Given the description of an element on the screen output the (x, y) to click on. 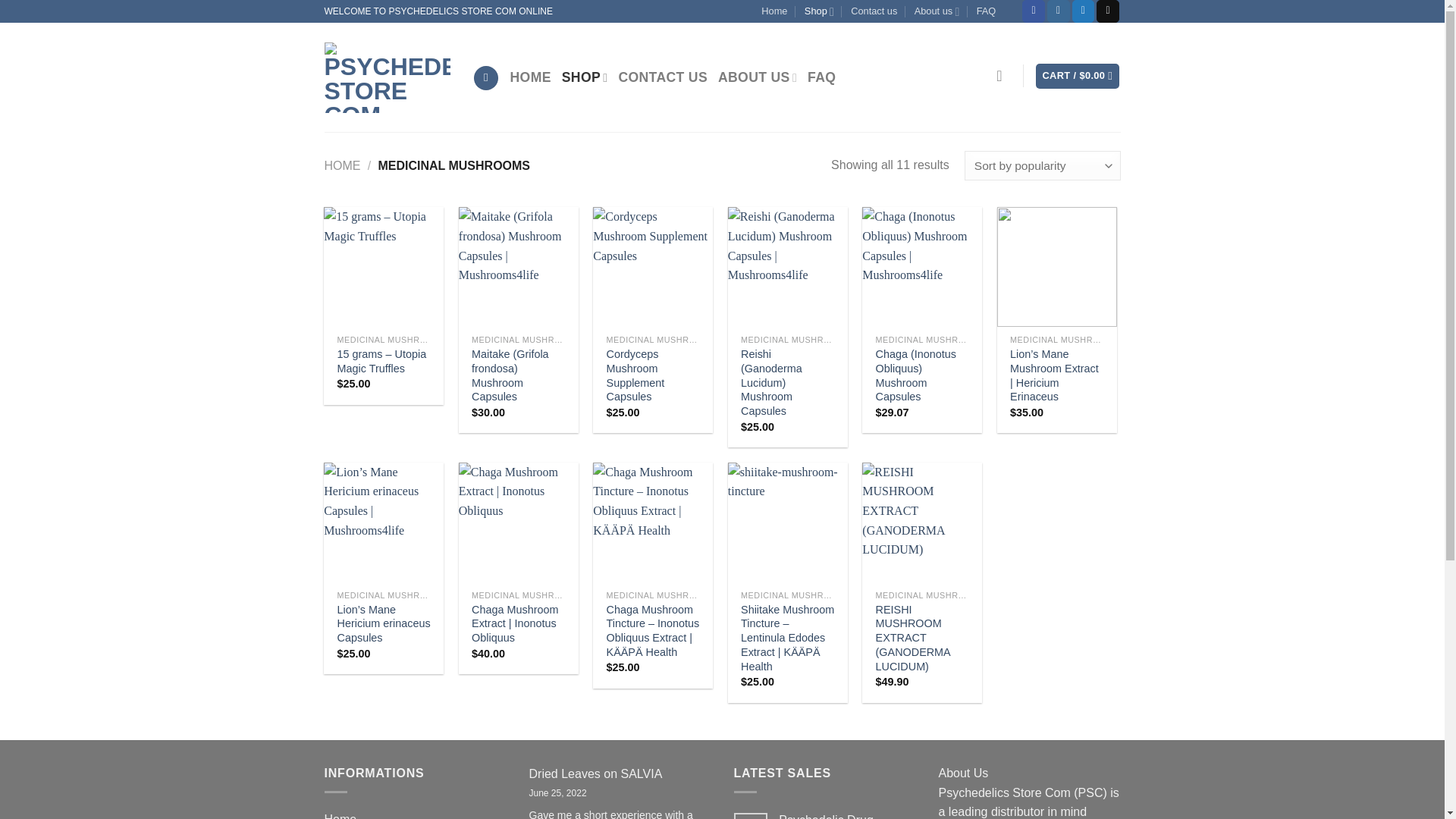
Home (774, 11)
Send us an email (1107, 11)
About us (936, 11)
SHOP (585, 77)
HOME (531, 77)
FAQ (985, 11)
Shop (819, 11)
Contact us (873, 11)
Cart (1077, 75)
Psychedelics Store Com - Buy Legal Psychedelics online (386, 77)
Follow on Facebook (1033, 11)
Follow on Twitter (1082, 11)
Follow on Instagram (1058, 11)
